Given the description of an element on the screen output the (x, y) to click on. 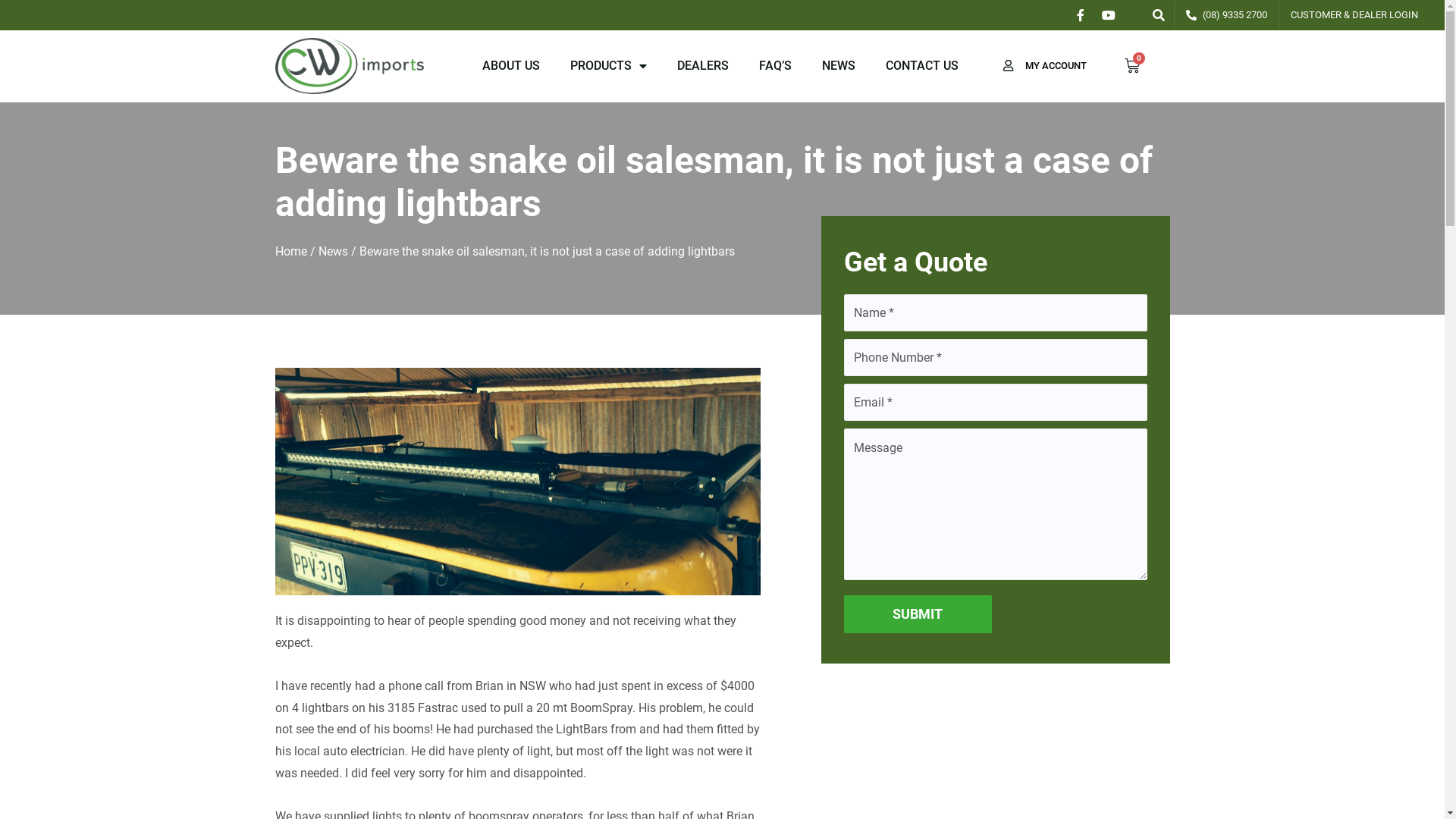
News Element type: text (333, 251)
CONTACT US Element type: text (921, 65)
DEALERS Element type: text (702, 65)
(08) 9335 2700 Element type: text (1226, 14)
NEWS Element type: text (838, 65)
CUSTOMER & DEALER LOGIN Element type: text (1354, 14)
Submit Element type: text (917, 614)
PRODUCTS Element type: text (608, 65)
0 Element type: text (1131, 65)
ABOUT US Element type: text (511, 65)
Home Element type: text (290, 251)
MY ACCOUNT Element type: text (1055, 65)
